Given the description of an element on the screen output the (x, y) to click on. 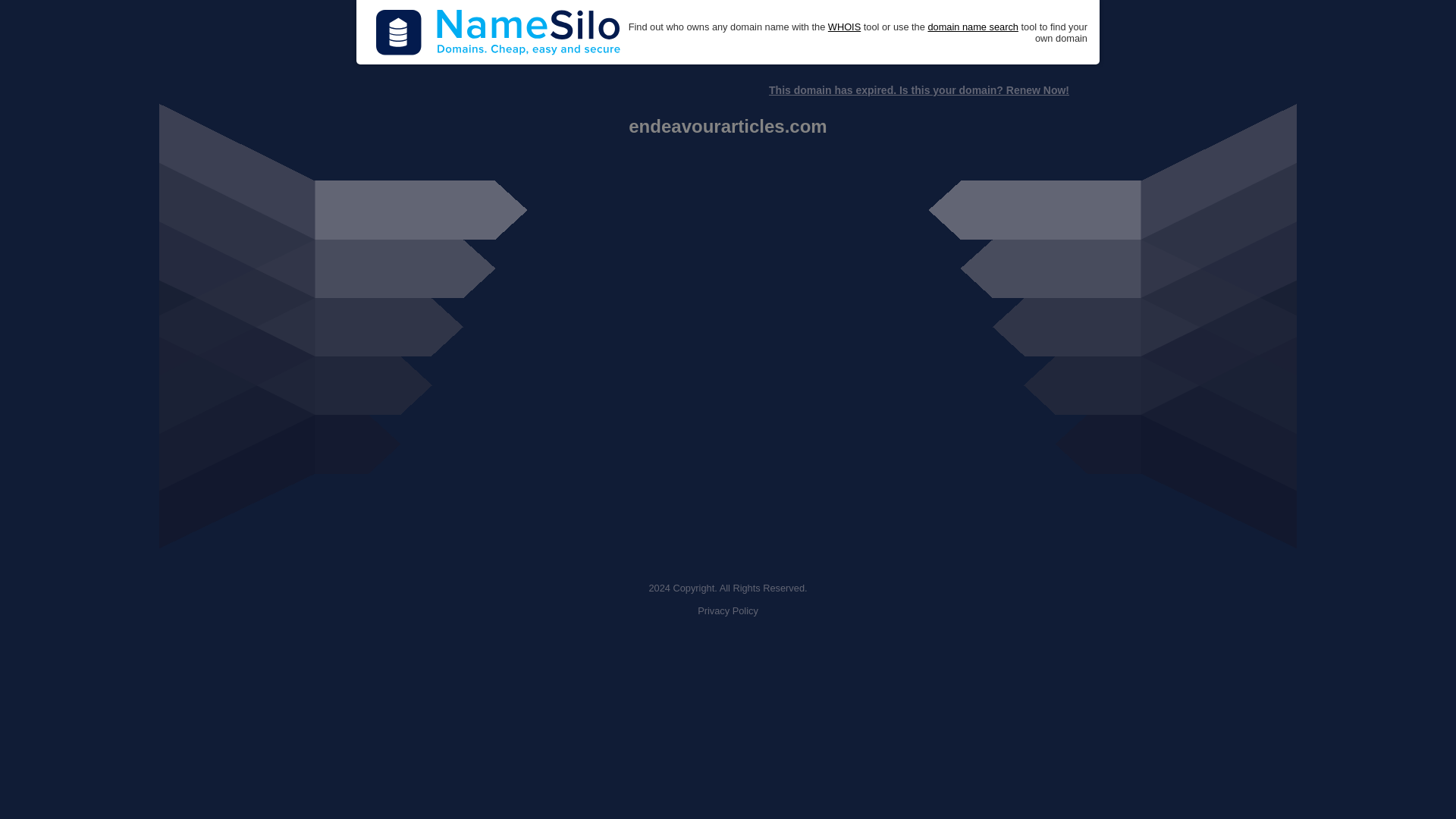
WHOIS (844, 26)
domain name search (972, 26)
Privacy Policy (727, 610)
This domain has expired. Is this your domain? Renew Now! (918, 90)
